Given the description of an element on the screen output the (x, y) to click on. 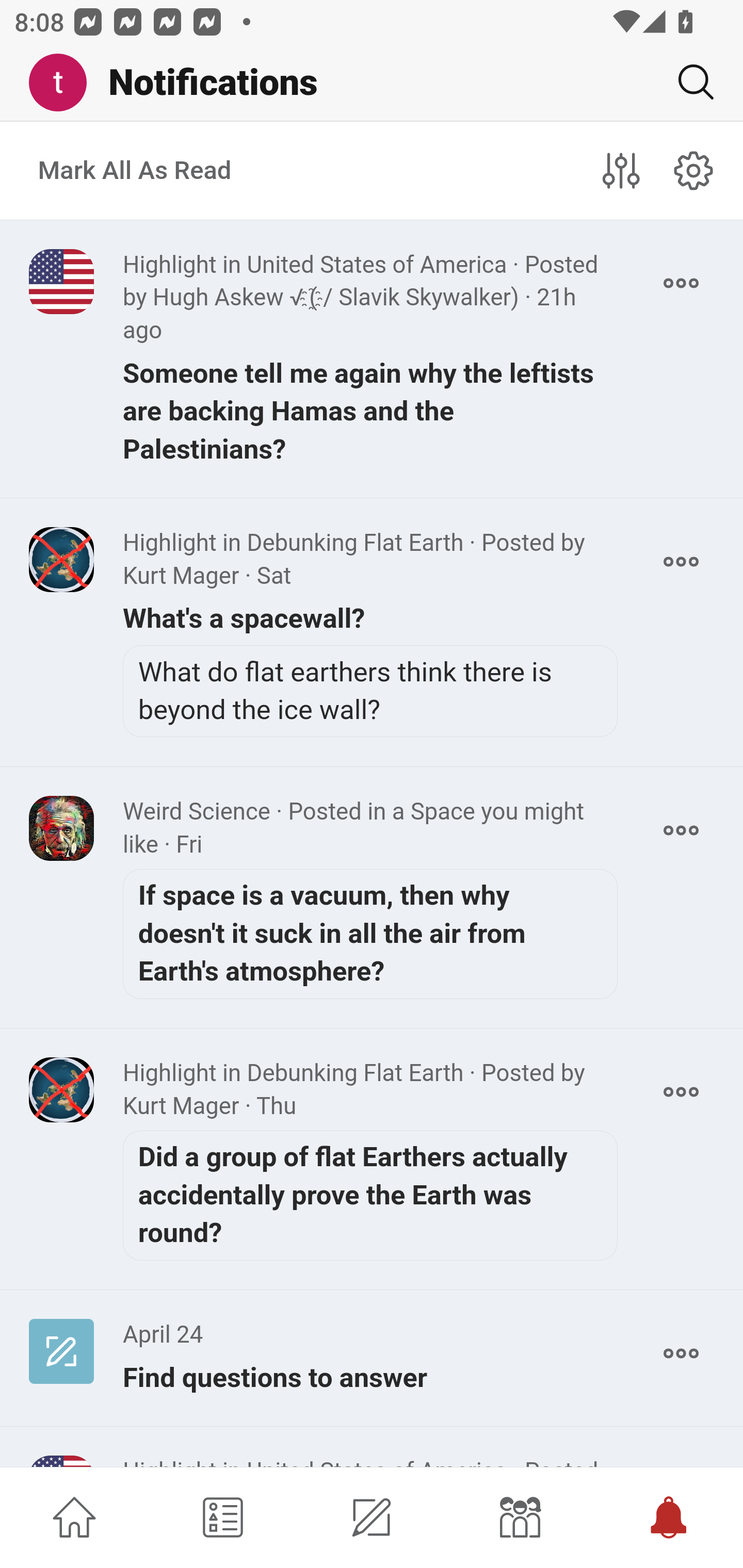
Me Notifications Search (371, 82)
Me (64, 83)
Search (688, 82)
Mark All As Read (135, 171)
notifications# (693, 170)
More (681, 282)
More (681, 560)
More (681, 829)
More (681, 1091)
More (681, 1353)
